Given the description of an element on the screen output the (x, y) to click on. 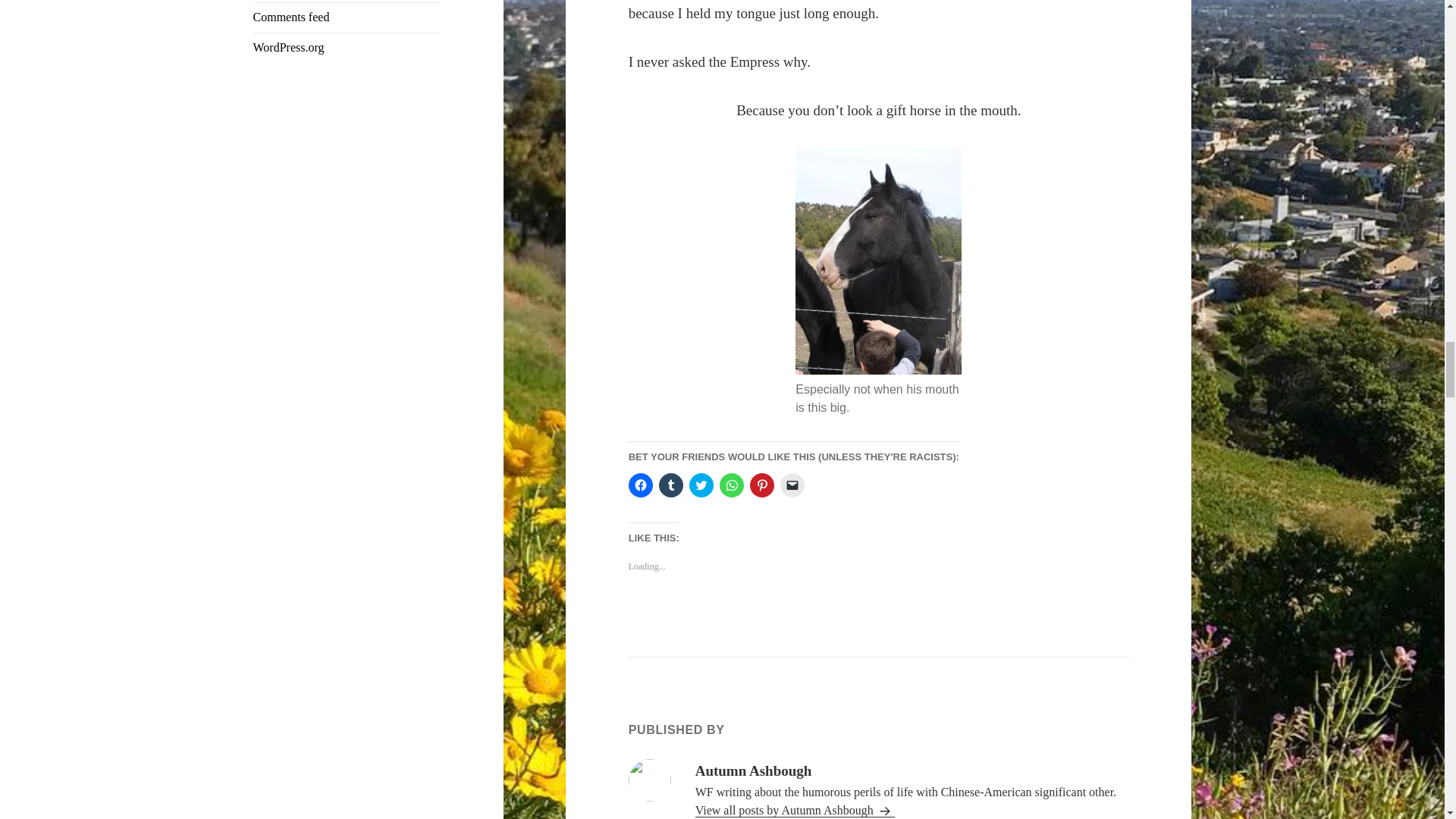
Click to share on Pinterest (761, 485)
Click to share on Twitter (700, 485)
Click to email a link to a friend (792, 485)
Click to share on Tumblr (670, 485)
Click to share on Facebook (640, 485)
Click to share on WhatsApp (731, 485)
